Given the description of an element on the screen output the (x, y) to click on. 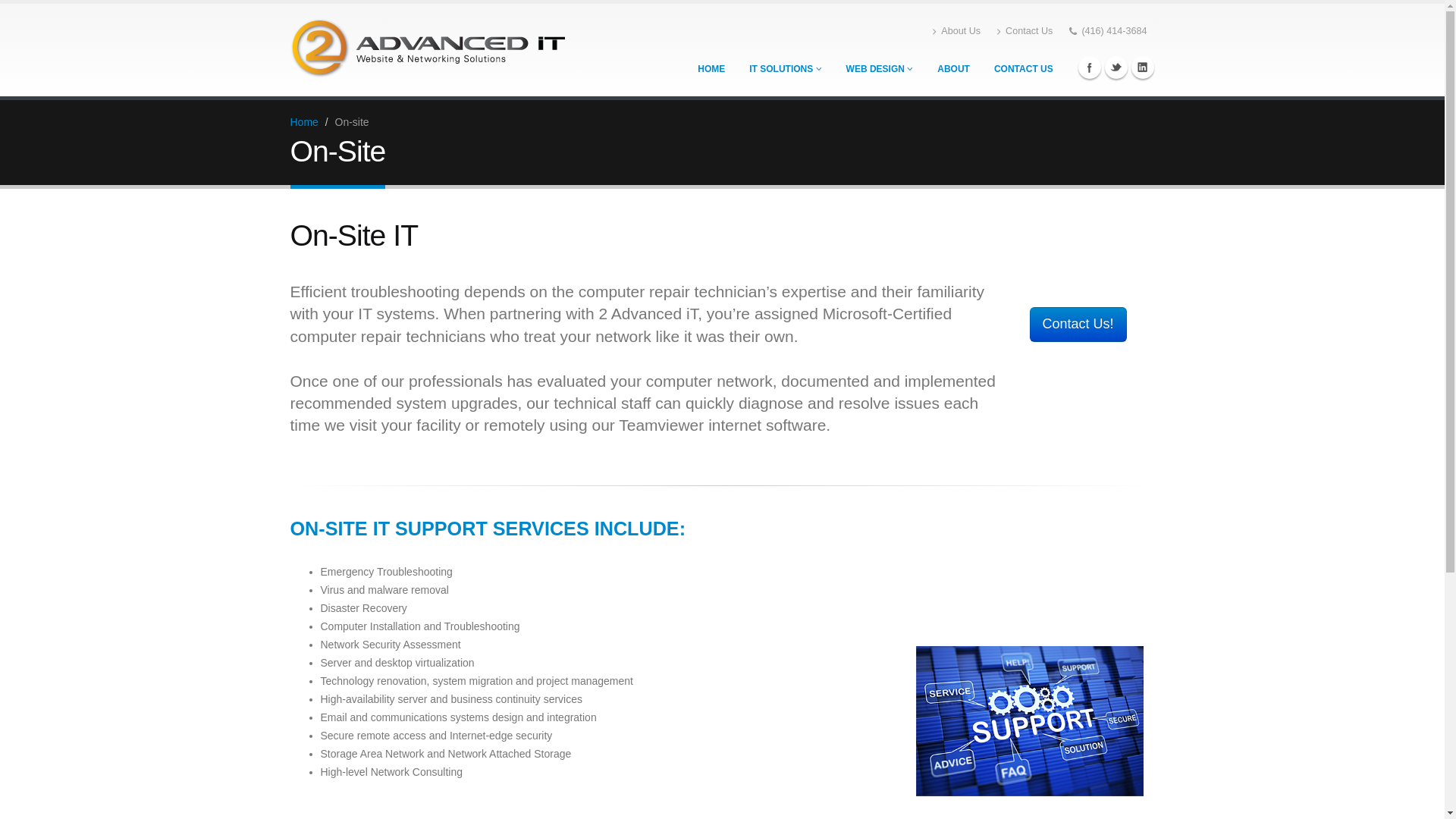
Facebook Element type: text (1089, 67)
Home Element type: text (303, 122)
WEB DESIGN Element type: text (879, 68)
Twitter Element type: text (1115, 67)
Contact Us Element type: text (1024, 30)
About Us Element type: text (956, 30)
HOME Element type: text (711, 68)
CONTACT US Element type: text (1023, 68)
INCLUDE Element type: text (636, 528)
ABOUT Element type: text (953, 68)
Linkedin Element type: text (1142, 67)
IT SOLUTIONS Element type: text (784, 68)
Contact Us! Element type: text (1077, 324)
